Given the description of an element on the screen output the (x, y) to click on. 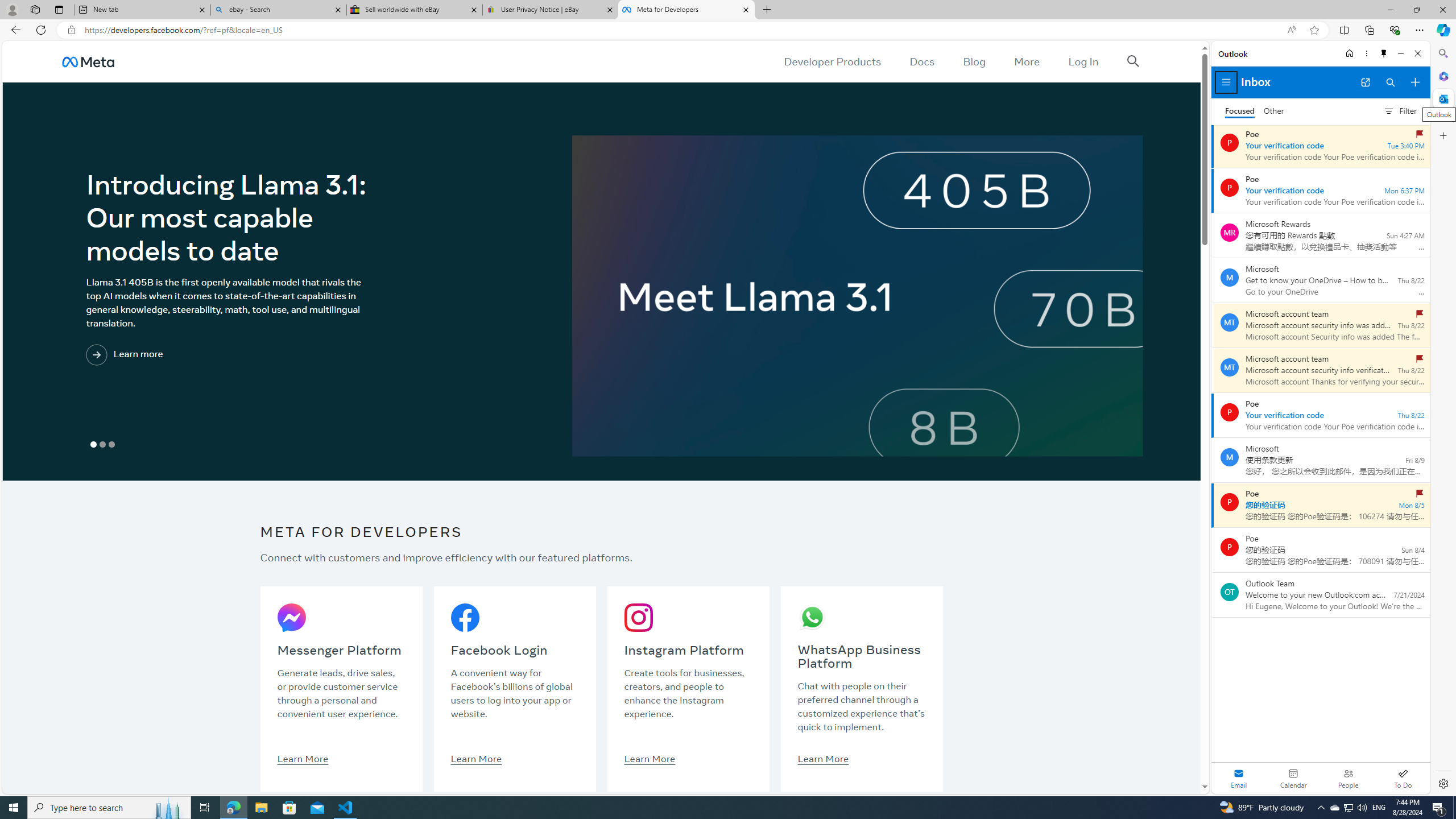
To Do (1402, 777)
Sell worldwide with eBay (414, 9)
More options (1366, 53)
Docs (922, 61)
Filter (1399, 110)
Folder navigation (1225, 82)
